Given the description of an element on the screen output the (x, y) to click on. 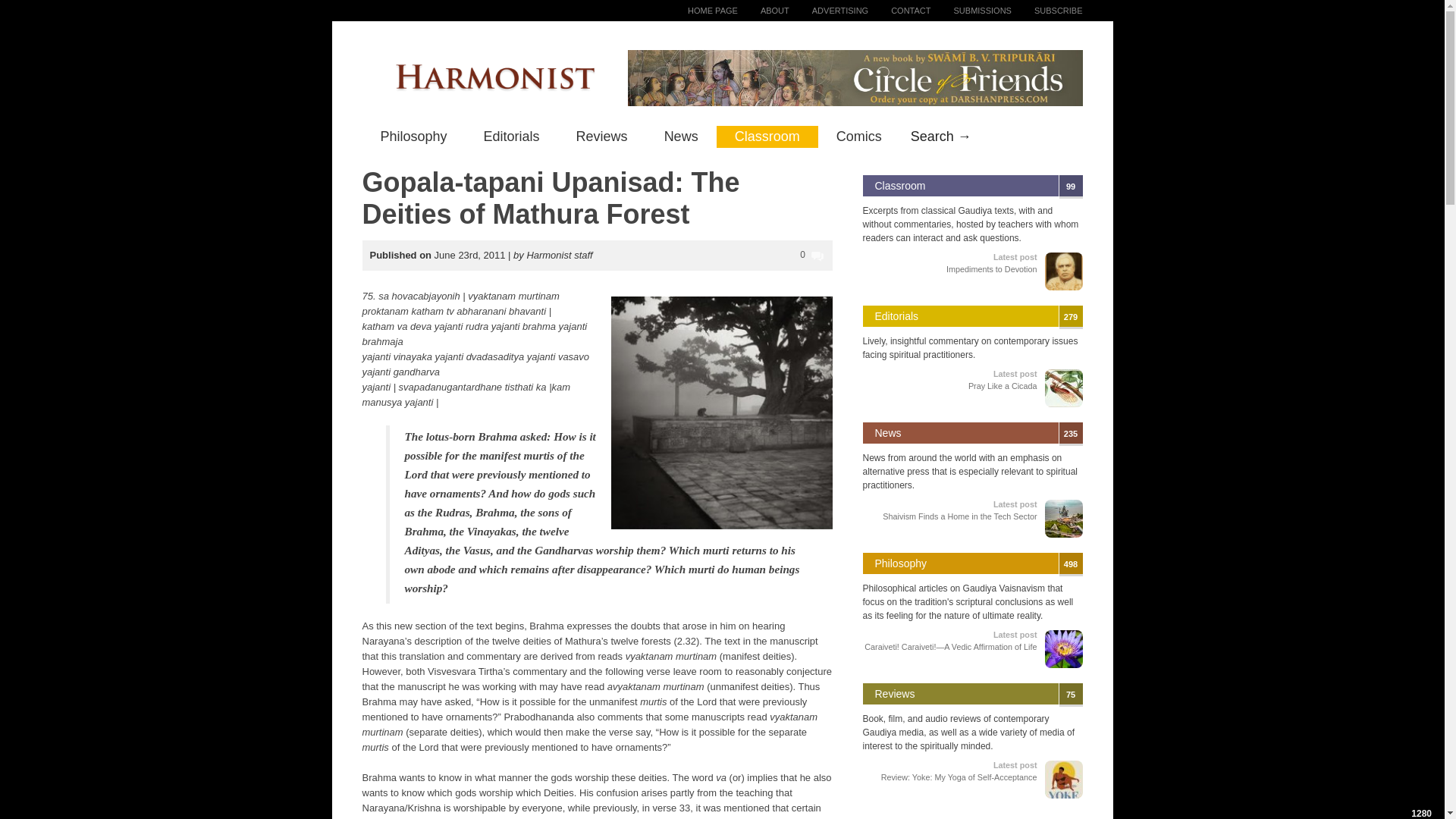
SUBMISSIONS (971, 10)
News (681, 137)
HOME PAGE (701, 10)
SUBSCRIBE (900, 185)
Classroom (1047, 10)
CONTACT (767, 137)
ADVERTISING (898, 10)
Editorials (828, 10)
Impediments to Devotion (511, 137)
Philosophy (991, 268)
Comics (413, 137)
Reviews (858, 137)
